Given the description of an element on the screen output the (x, y) to click on. 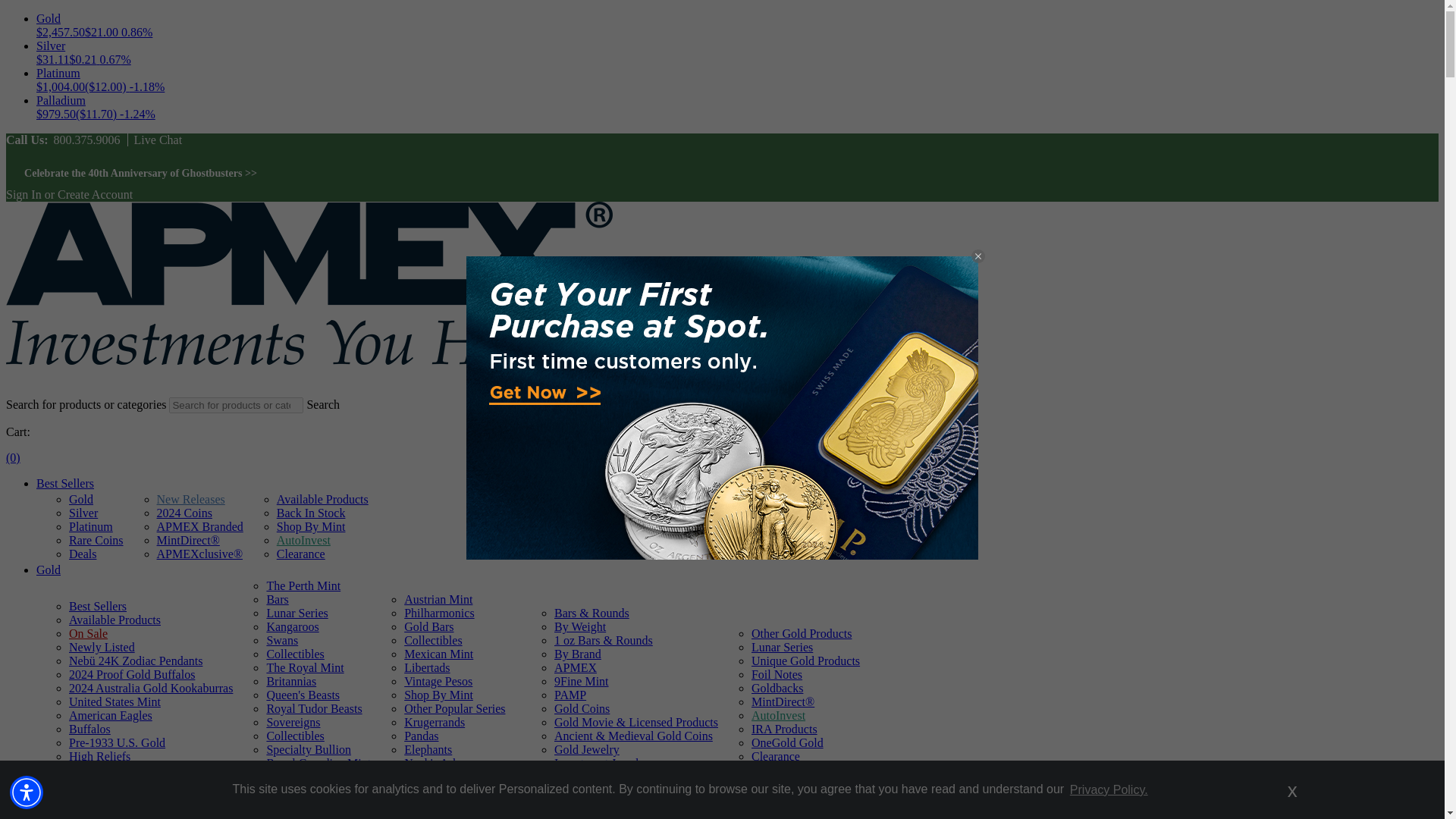
2024 Coins (184, 512)
Available Products (114, 619)
Shop By Mint (311, 526)
Login (23, 194)
x (1291, 789)
Create Account (95, 194)
Clearance (300, 553)
Available Products (322, 499)
Newly Listed (101, 646)
Rare Coins (95, 540)
Silver (82, 512)
Gold (48, 569)
AutoInvest (303, 540)
Create A Free Account (95, 194)
New Releases (191, 499)
